Given the description of an element on the screen output the (x, y) to click on. 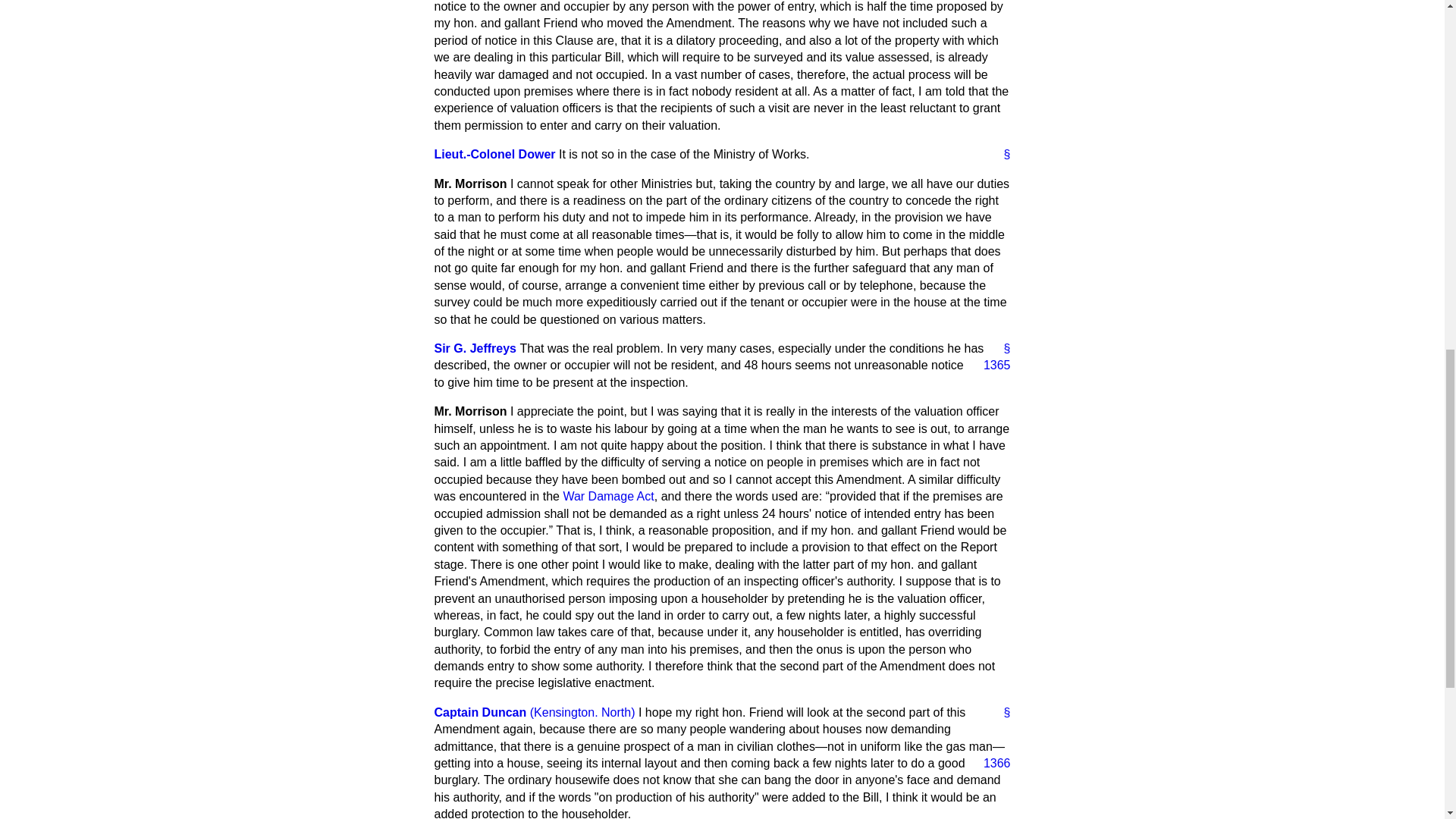
Link to this speech by General Sir George Jeffreys (1000, 348)
Lieut.-Colonel Dower (493, 154)
Link to this speech by Colonel Alan Gandar-Dower (1000, 154)
General Sir George Jeffreys (474, 348)
Sir G. Jeffreys (474, 348)
Colonel Alan Gandar-Dower (493, 154)
1365 (990, 365)
